Given the description of an element on the screen output the (x, y) to click on. 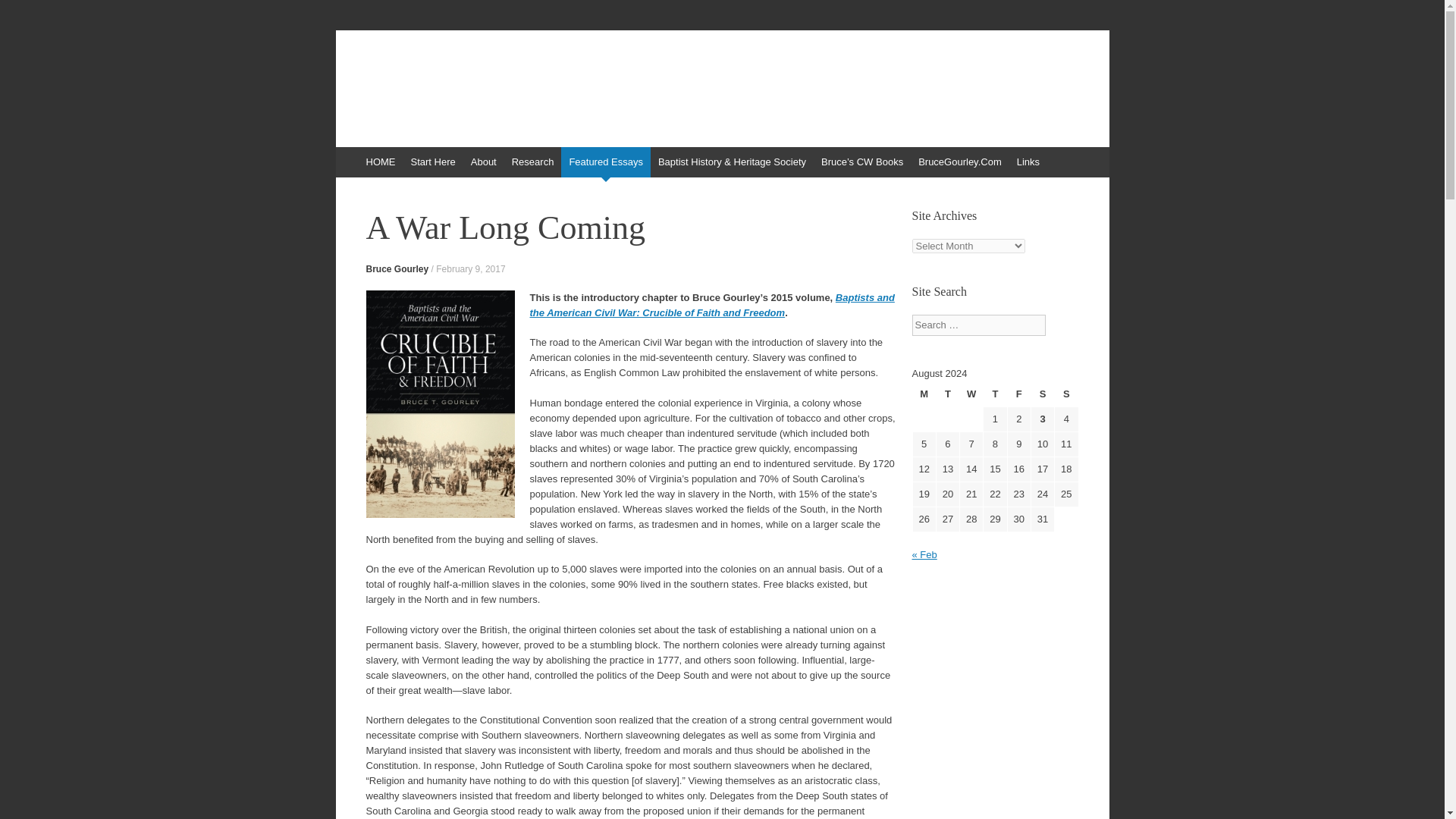
Featured Essays (605, 162)
Wednesday (970, 394)
HOME (380, 162)
Thursday (995, 394)
February 9, 2017 (470, 268)
BruceGourley.Com (960, 162)
About (483, 162)
Sunday (1065, 394)
Tuesday (947, 394)
Friday (1018, 394)
Research (532, 162)
Bruce Gourley (396, 268)
Links (1027, 162)
Skip to content (342, 176)
